Given the description of an element on the screen output the (x, y) to click on. 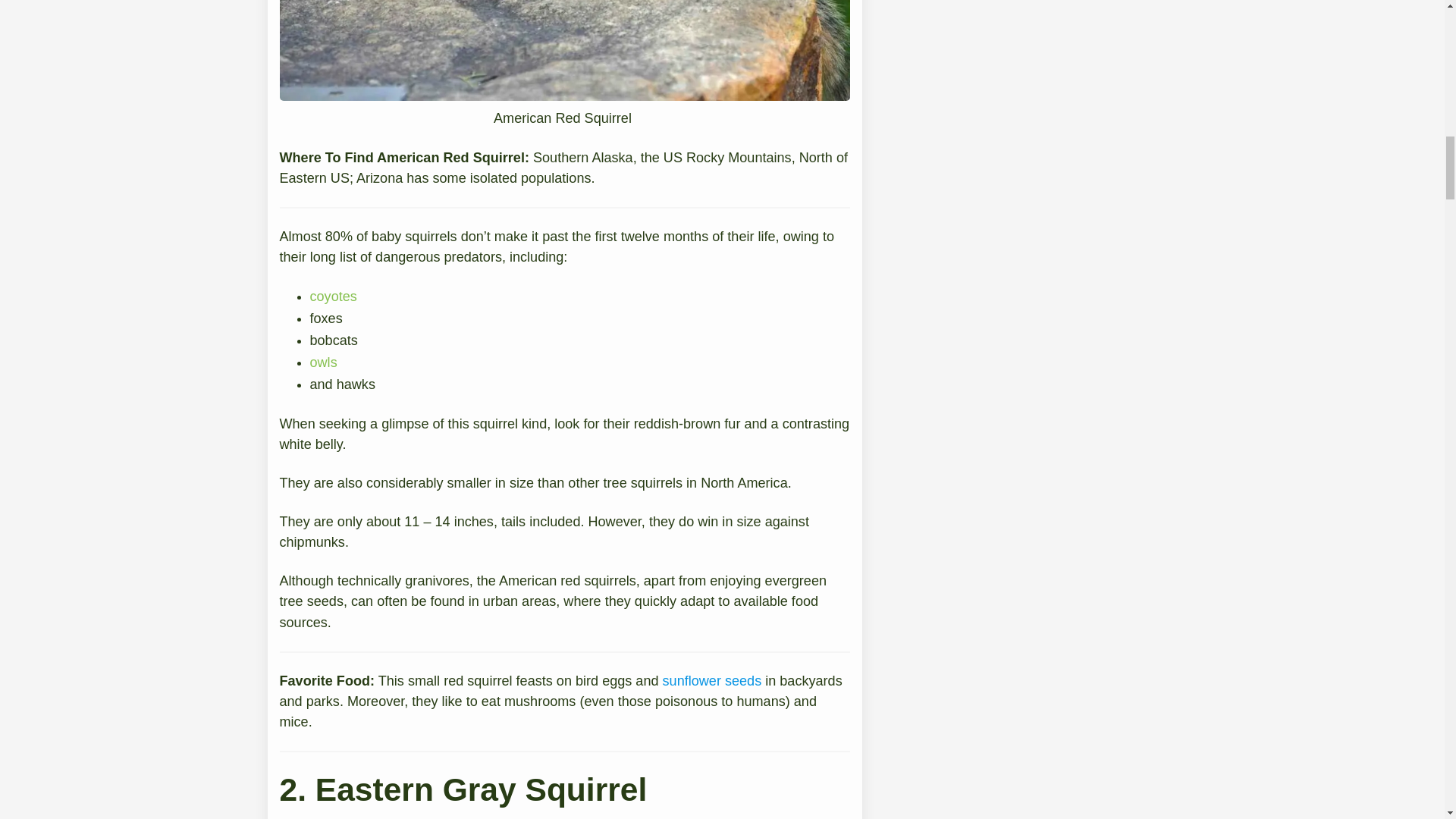
owls (322, 362)
coyotes (332, 296)
sunflower seeds (711, 680)
